Given the description of an element on the screen output the (x, y) to click on. 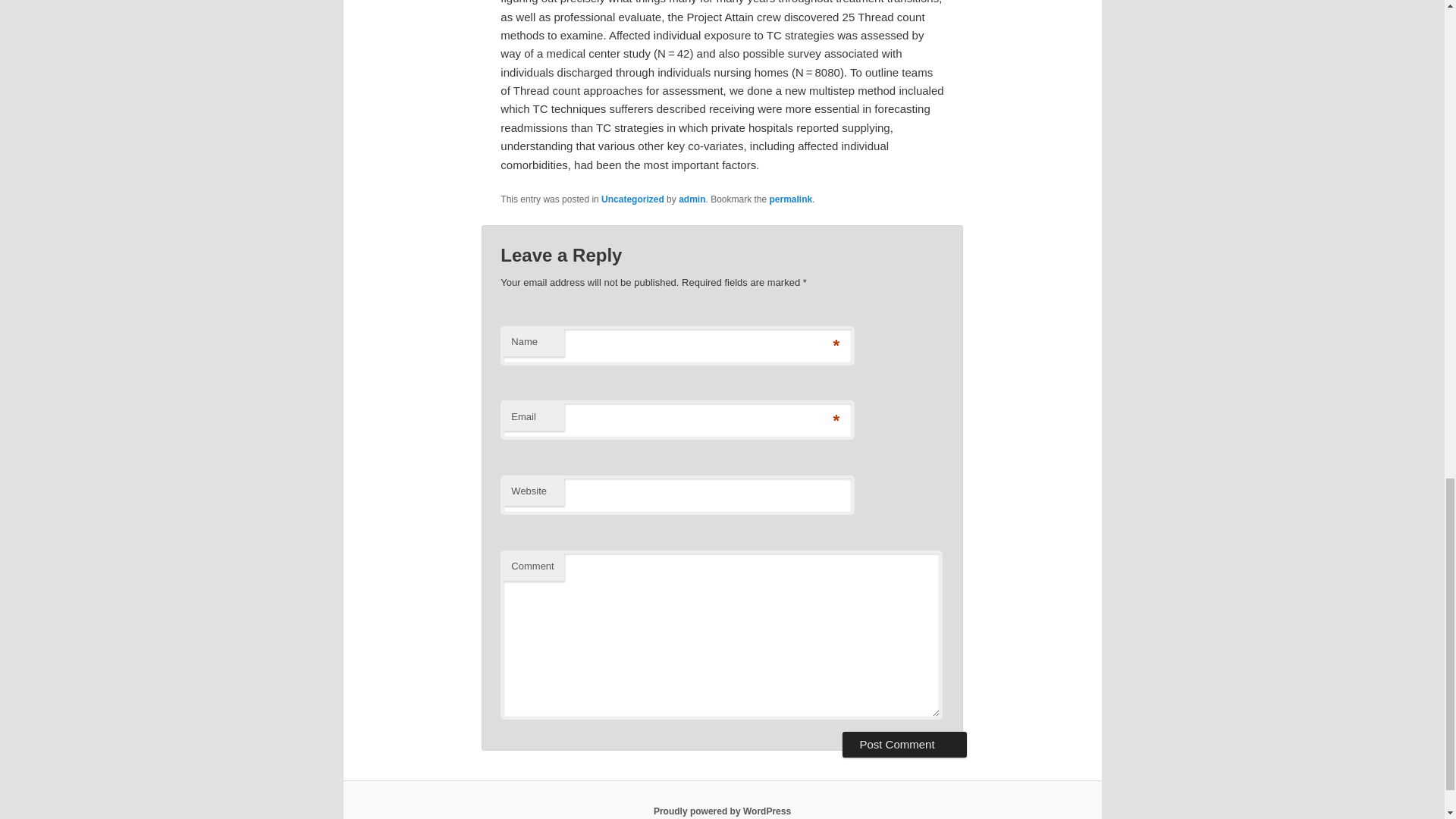
permalink (791, 199)
Semantic Personal Publishing Platform (721, 810)
View all posts in Uncategorized (632, 199)
Post Comment (904, 744)
admin (691, 199)
Proudly powered by WordPress (721, 810)
Uncategorized (632, 199)
Post Comment (904, 744)
